Given the description of an element on the screen output the (x, y) to click on. 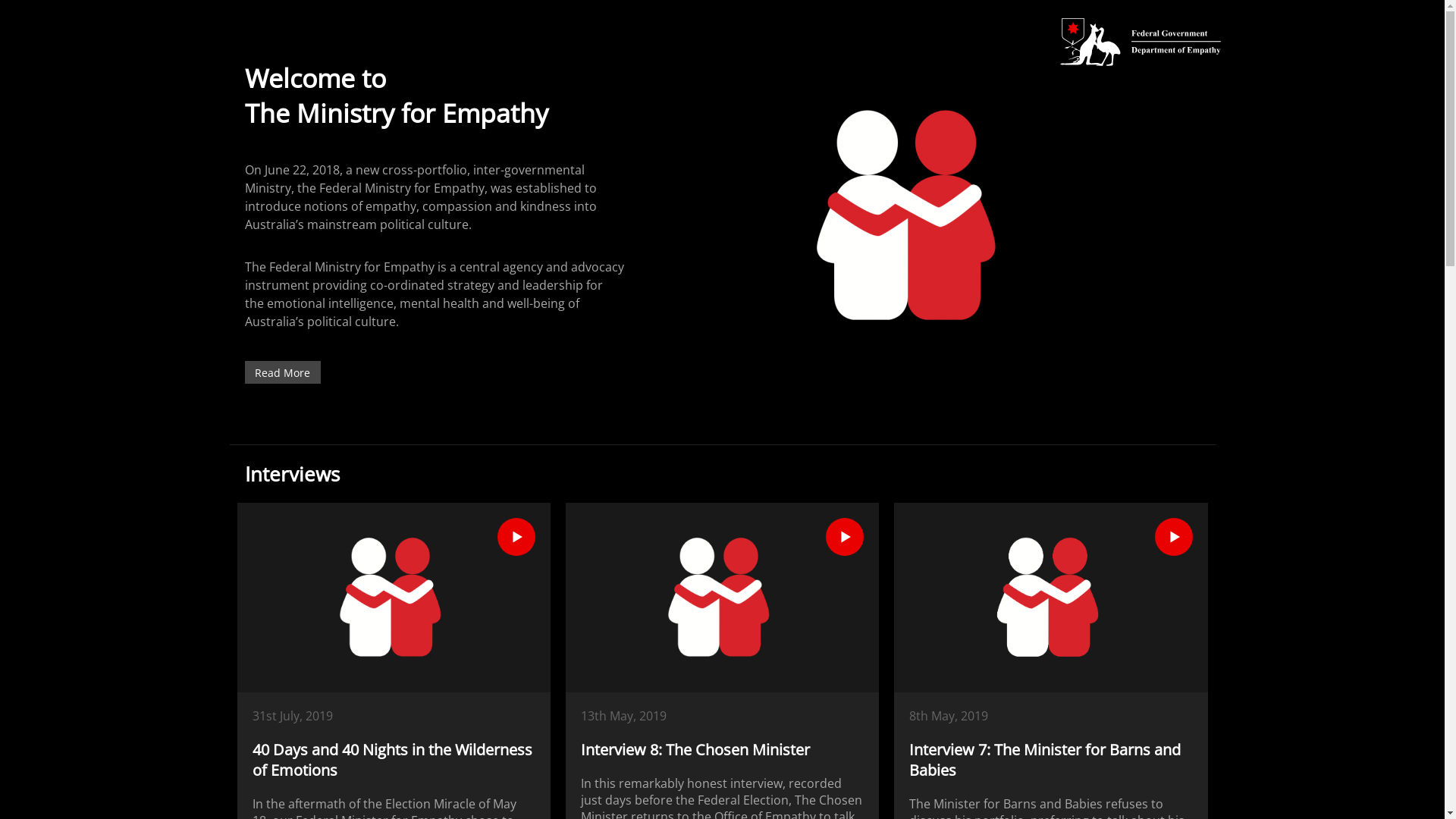
Read More Element type: text (282, 371)
